Given the description of an element on the screen output the (x, y) to click on. 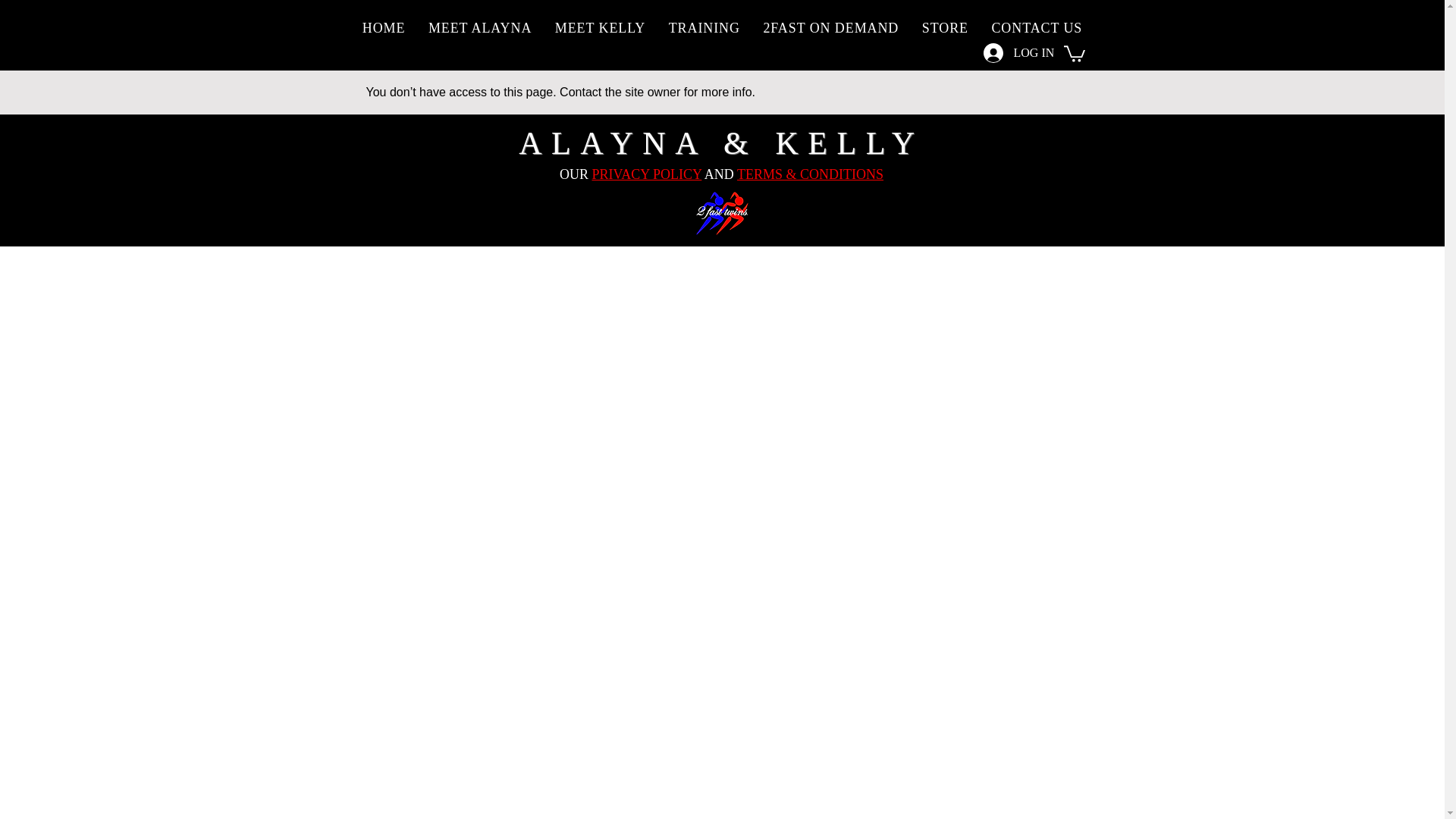
TRAINING (703, 28)
HOME (383, 28)
MEET ALAYNA (479, 28)
STORE (945, 28)
PRIVACY POLICY (646, 174)
2FAST ON DEMAND (830, 28)
CONTACT US (1036, 28)
MEET KELLY (600, 28)
LOG IN (1017, 52)
